Given the description of an element on the screen output the (x, y) to click on. 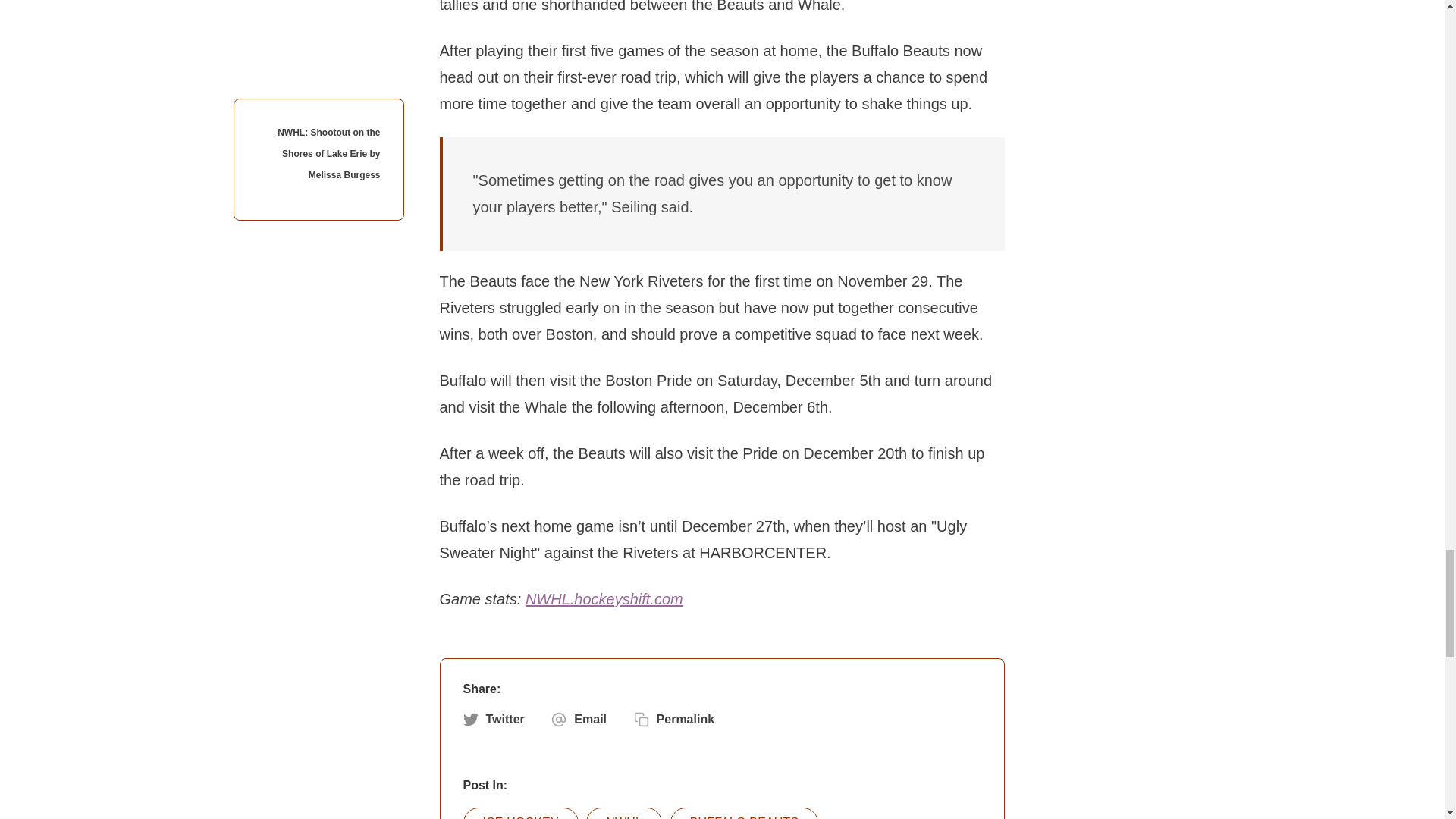
NWHL (624, 813)
Twitter (493, 719)
NWHL.hockeyshift.com (603, 598)
Email (579, 719)
BUFFALO BEAUTS (743, 813)
ICE HOCKEY (520, 813)
Permalink (673, 719)
